Given the description of an element on the screen output the (x, y) to click on. 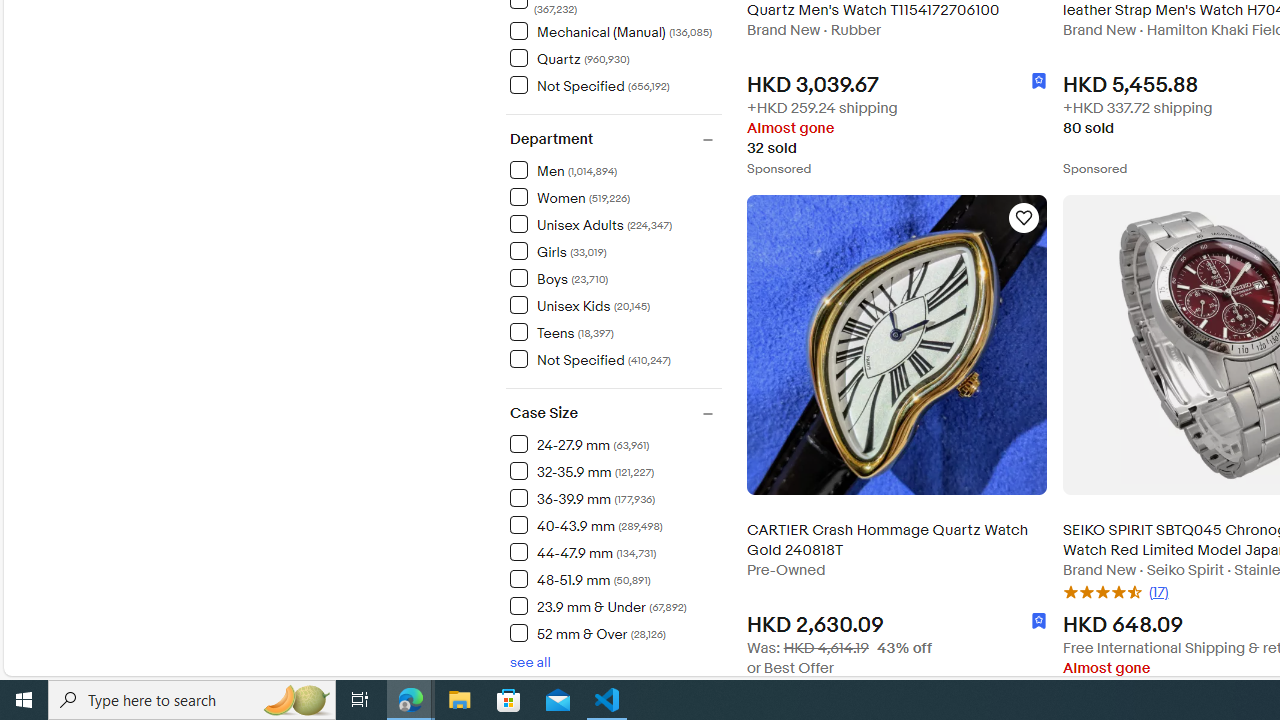
Girls(33,019) Items (615, 250)
watch CARTIER Crash Hommage Quartz Watch Gold 240818T (1023, 218)
Mechanical (Manual) (136,085) Items (610, 31)
Men(1,014,894) Items (615, 169)
Unisex Adults (224,347) Items (591, 224)
Mechanical (Manual)(136,085) Items (615, 30)
Unisex Adults(224,347) Items (615, 223)
52 mm & Over (28,126) Items (587, 633)
Teens (18,397) Items (561, 332)
Quartz(960,930) Items (615, 57)
Not Specified (410,247) Items (589, 358)
32-35.9 mm(121,227) Items (615, 470)
